Given the description of an element on the screen output the (x, y) to click on. 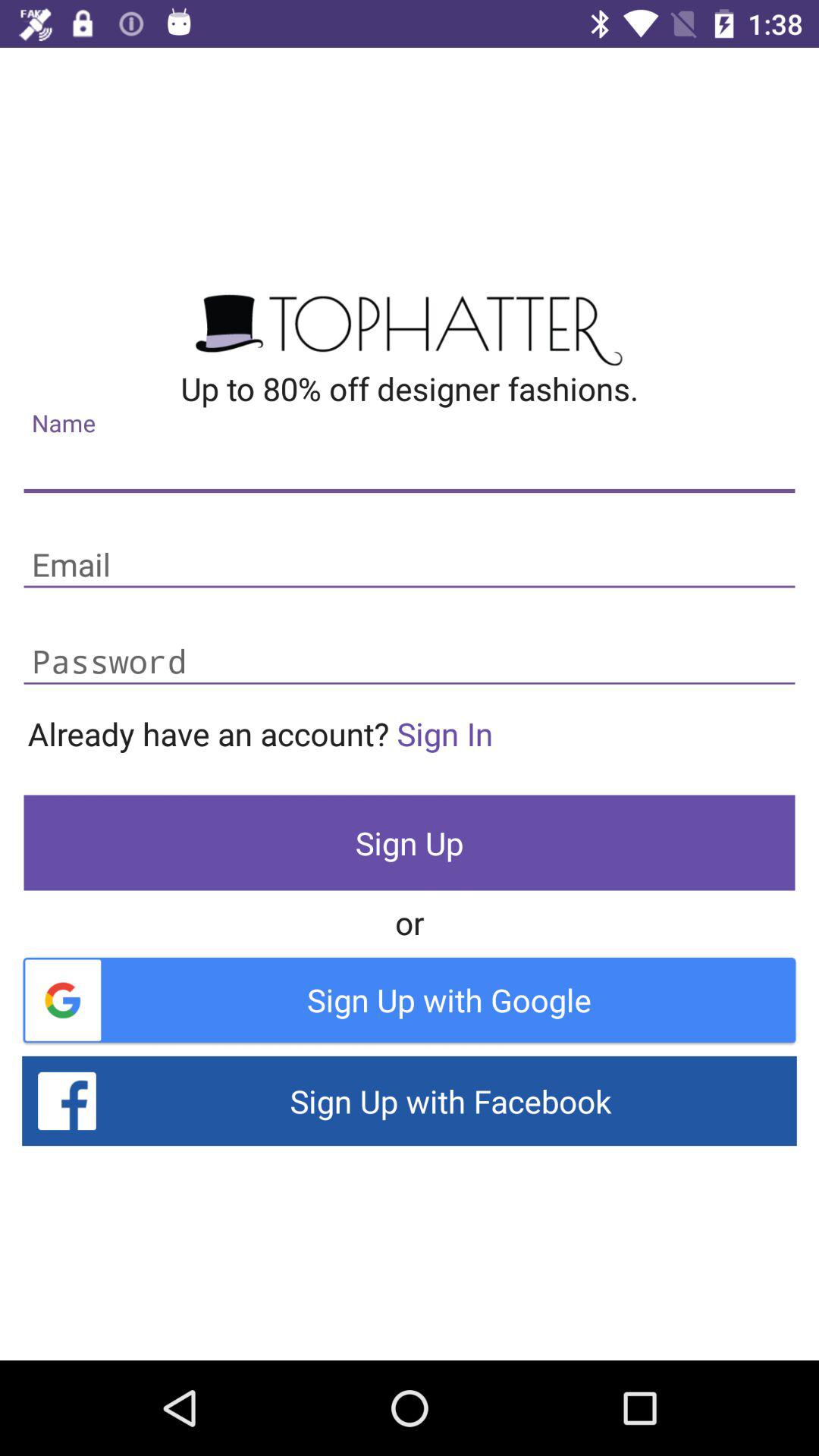
enter name (409, 468)
